Given the description of an element on the screen output the (x, y) to click on. 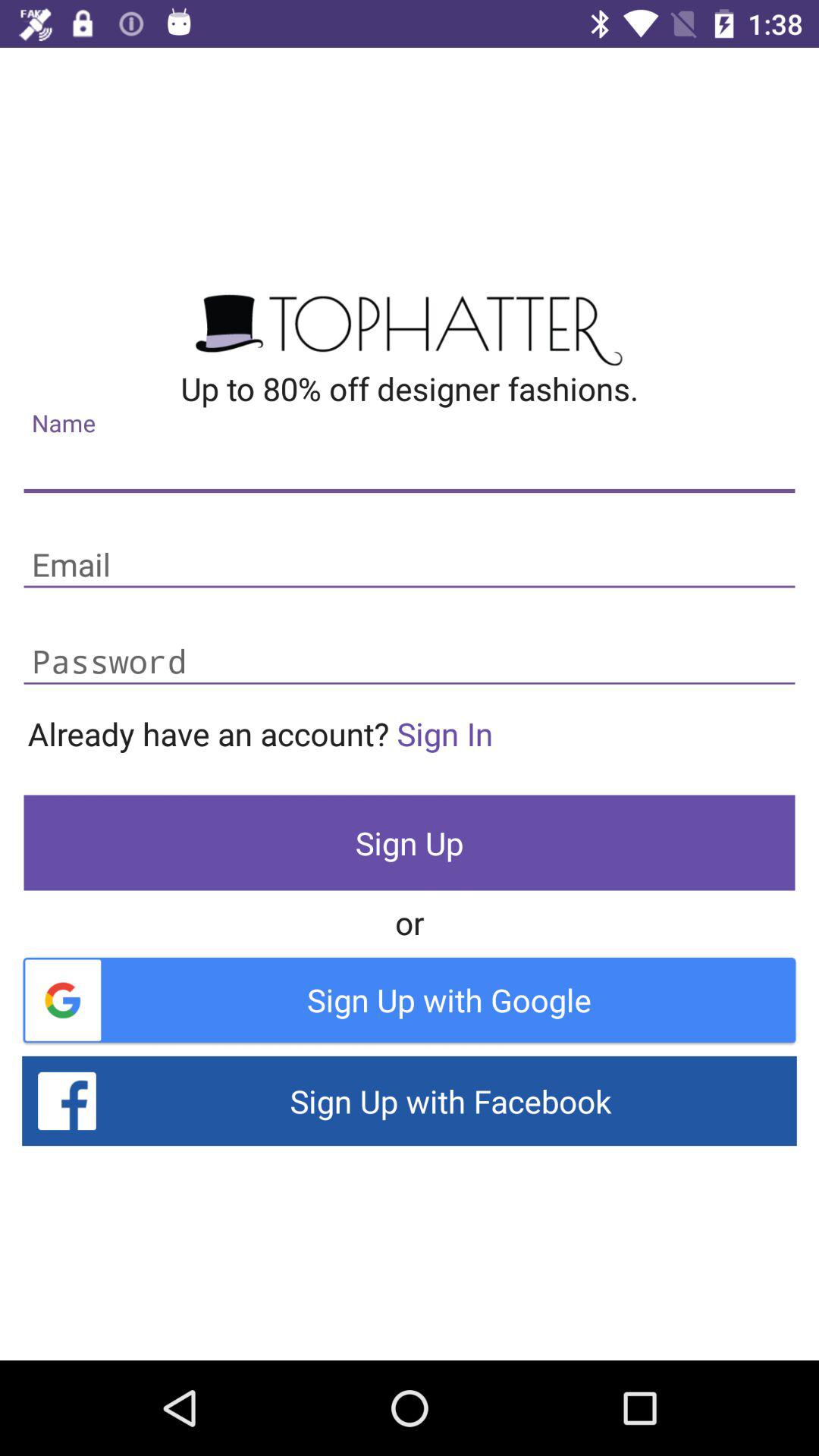
enter name (409, 468)
